Given the description of an element on the screen output the (x, y) to click on. 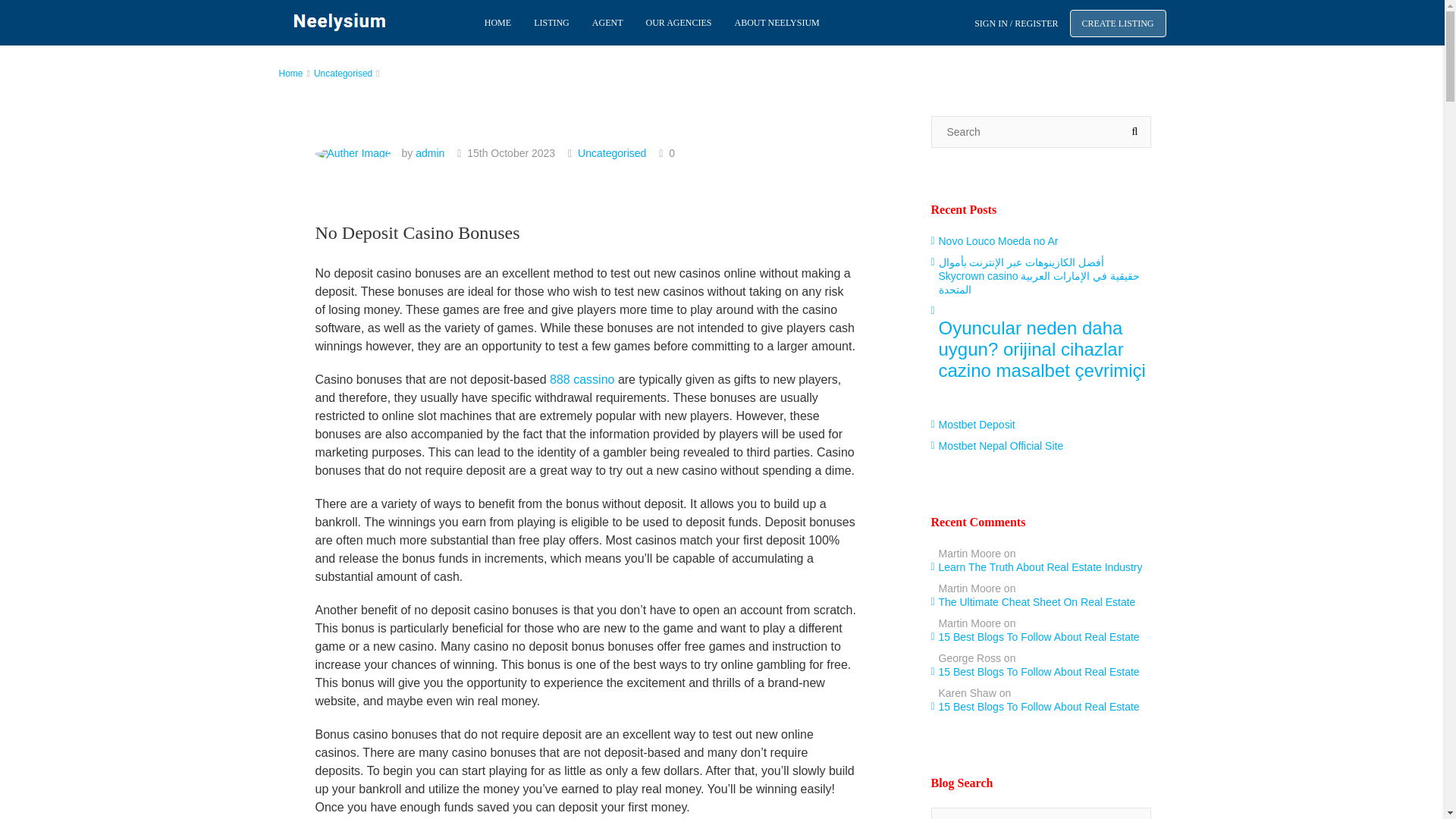
admin (429, 152)
888 cassino (582, 379)
OUR AGENCIES (677, 22)
AGENT (607, 22)
ABOUT NEELYSIUM (775, 22)
HOME (497, 22)
CREATE LISTING (1117, 22)
Home (290, 72)
LISTING (551, 22)
Uncategorised (343, 72)
Uncategorised (612, 152)
